Given the description of an element on the screen output the (x, y) to click on. 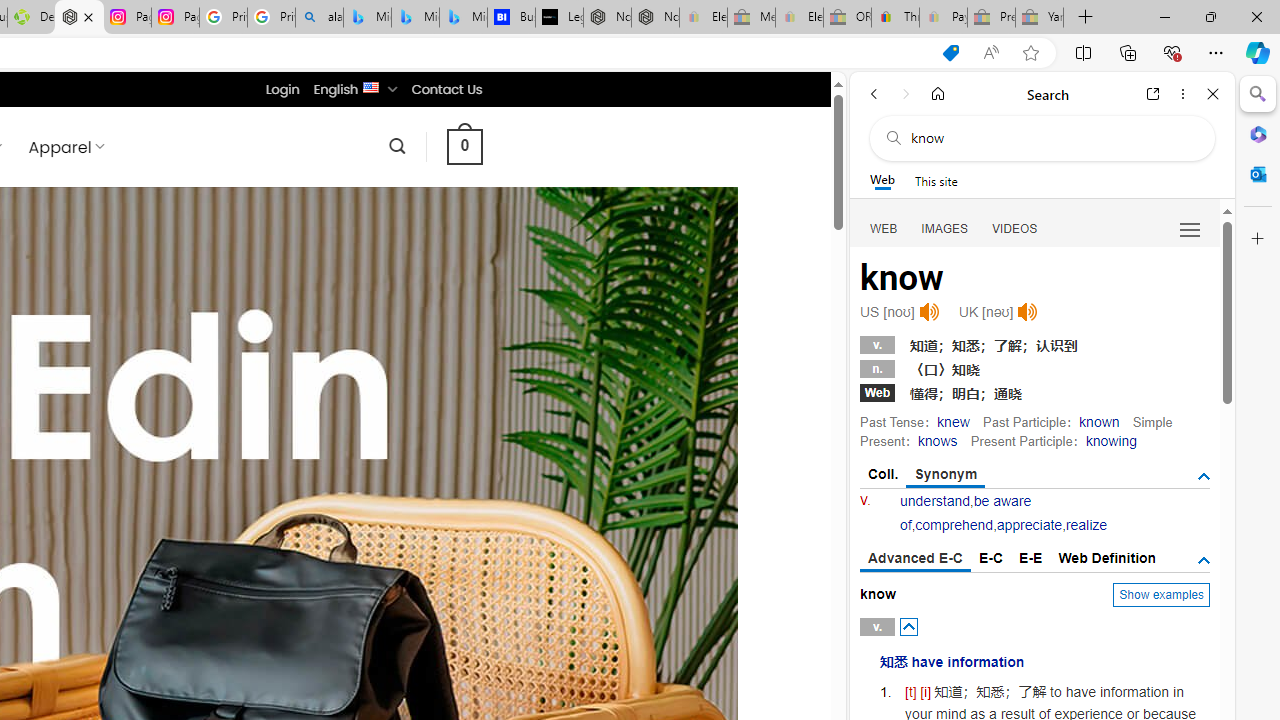
Login (281, 89)
be aware of (965, 512)
Microsoft Bing Travel - Flights from Hong Kong to Bangkok (367, 17)
AutomationID: posbtn_0 (908, 626)
Advanced E-C (915, 559)
understand (935, 501)
